Given the description of an element on the screen output the (x, y) to click on. 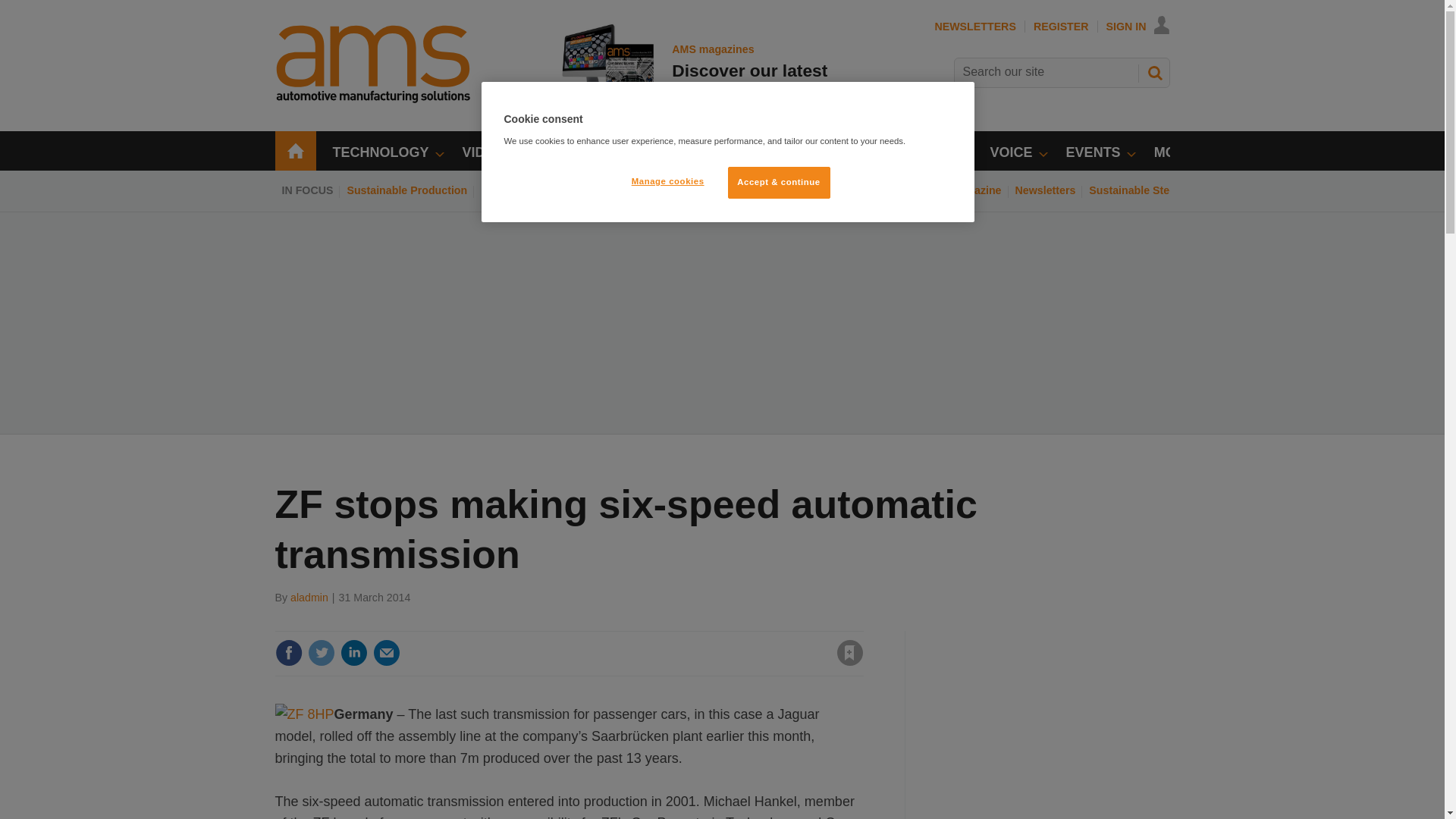
Manufacturing Engineering (703, 190)
Share this on Linked in (352, 652)
Electric Vehicle Production (550, 190)
SIGN IN (1138, 26)
REGISTER (1061, 26)
NEWSLETTERS (974, 26)
SEARCH (1153, 72)
Sustainable Production (406, 190)
Magazine (977, 190)
